Given the description of an element on the screen output the (x, y) to click on. 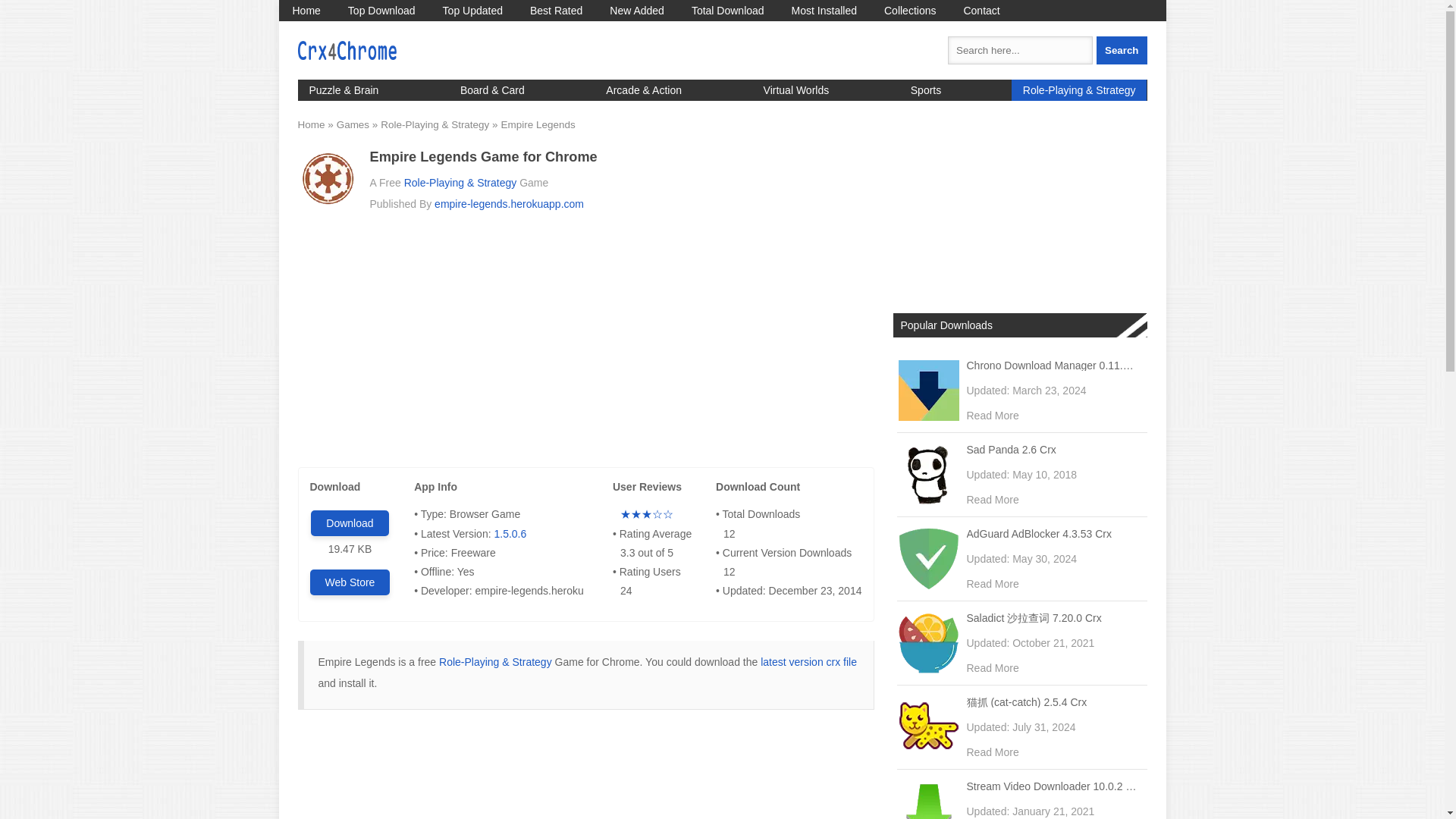
New Added (636, 10)
Most Installed (823, 10)
Total Download (727, 10)
Best Rated (555, 10)
Top Download (381, 10)
Total Download (727, 10)
Download (349, 523)
Top Updated (472, 10)
empire-legends.herokuapp.com (508, 203)
Top Updated (472, 10)
